Given the description of an element on the screen output the (x, y) to click on. 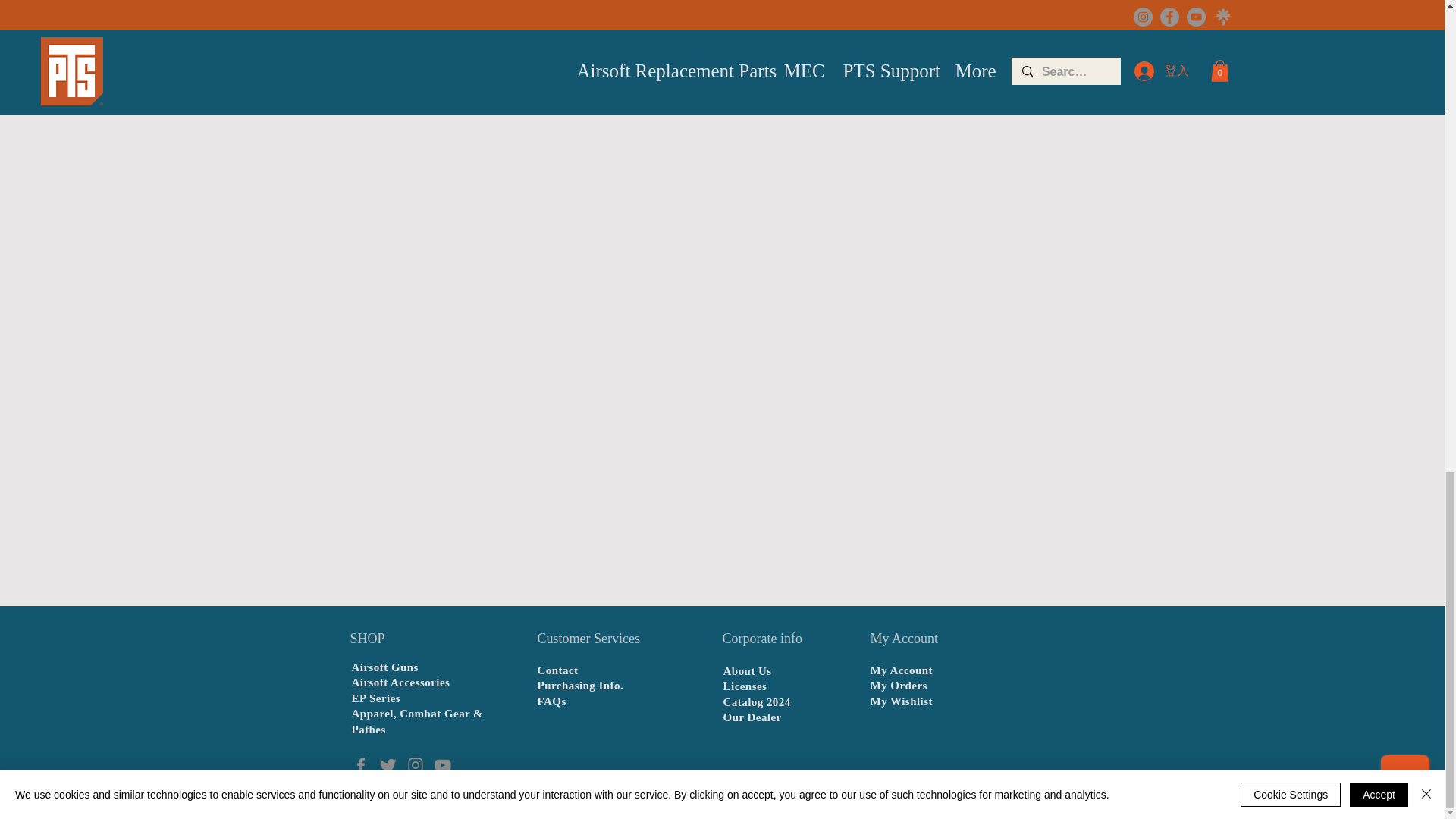
Airsoft Guns (385, 666)
FAQs (551, 701)
Purchasing Info. (580, 685)
Contact (557, 670)
EP Series (376, 698)
Airsoft Accessories (400, 682)
